Given the description of an element on the screen output the (x, y) to click on. 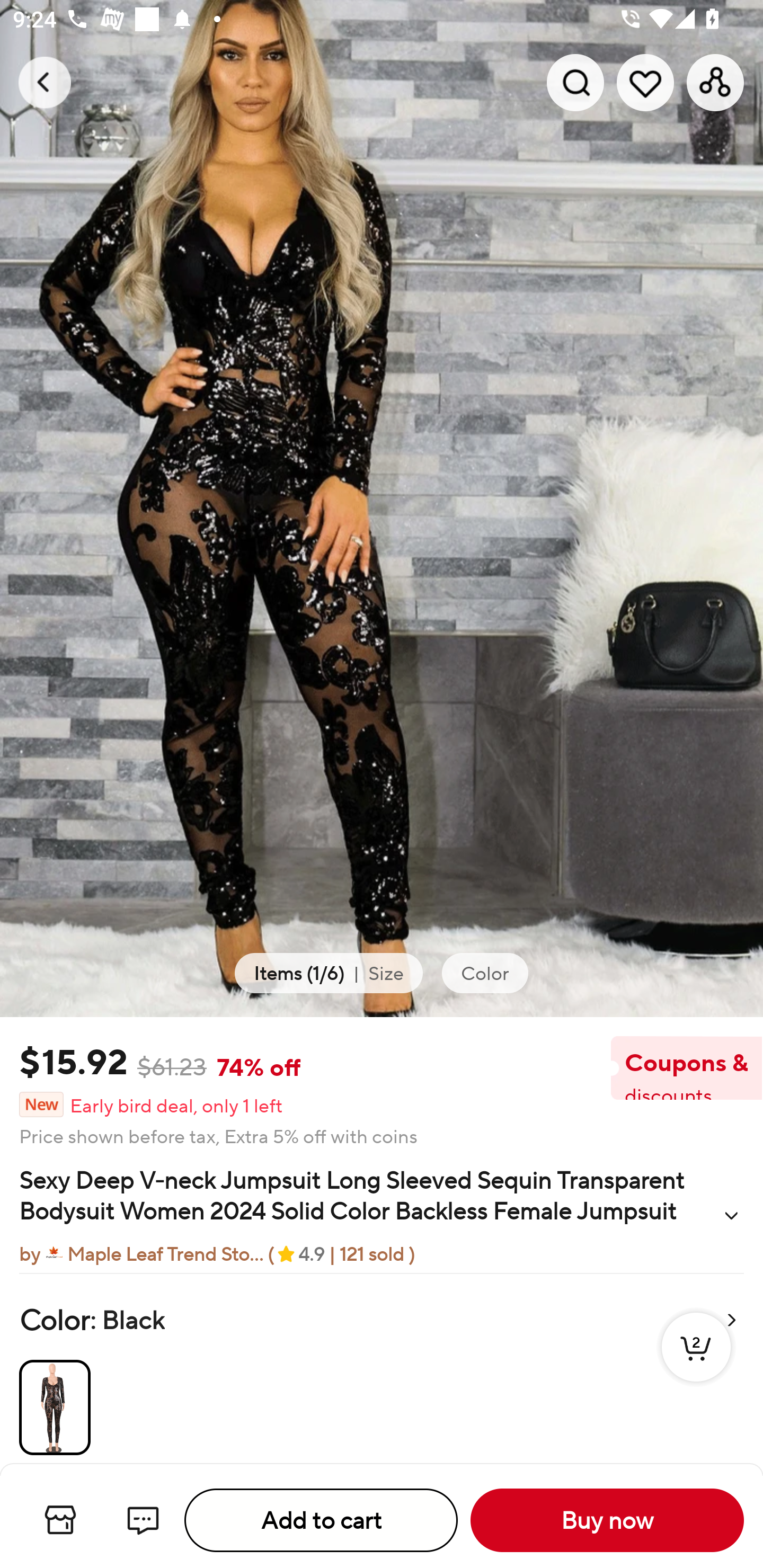
Navigate up (44, 82)
Items (1/6) (299, 972)
Size (385, 972)
Color (484, 972)
 (730, 1214)
Color : Black  (381, 1367)
2 (695, 1366)
Add to cart (320, 1520)
Buy now (606, 1520)
